Given the description of an element on the screen output the (x, y) to click on. 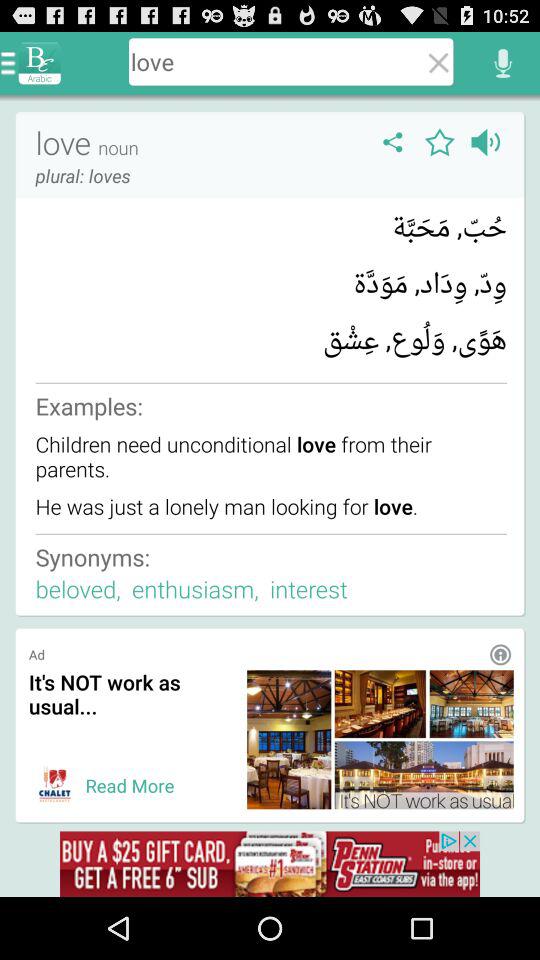
more information (500, 654)
